Given the description of an element on the screen output the (x, y) to click on. 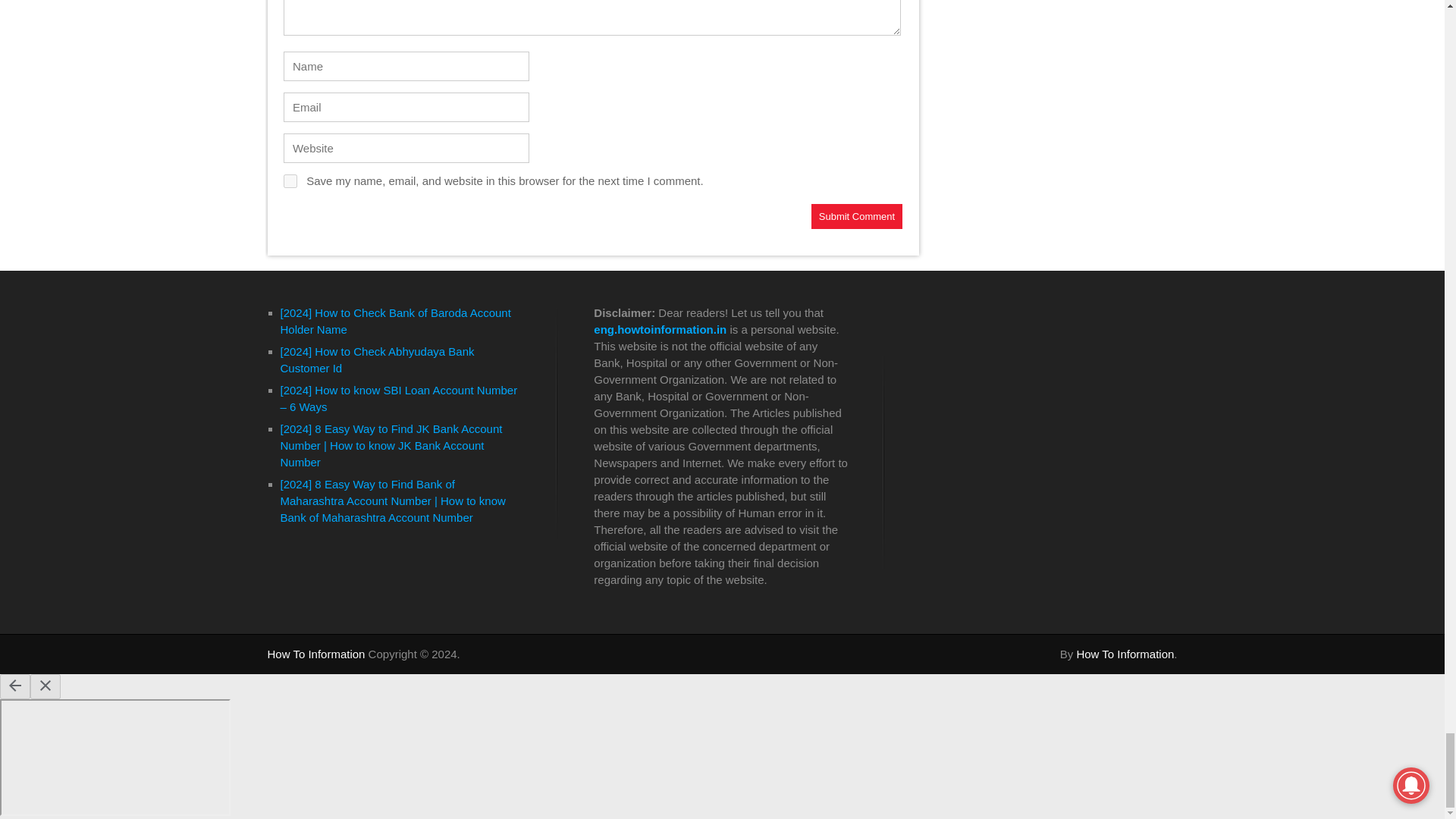
Submit Comment (856, 216)
How to do (315, 653)
yes (290, 181)
